Given the description of an element on the screen output the (x, y) to click on. 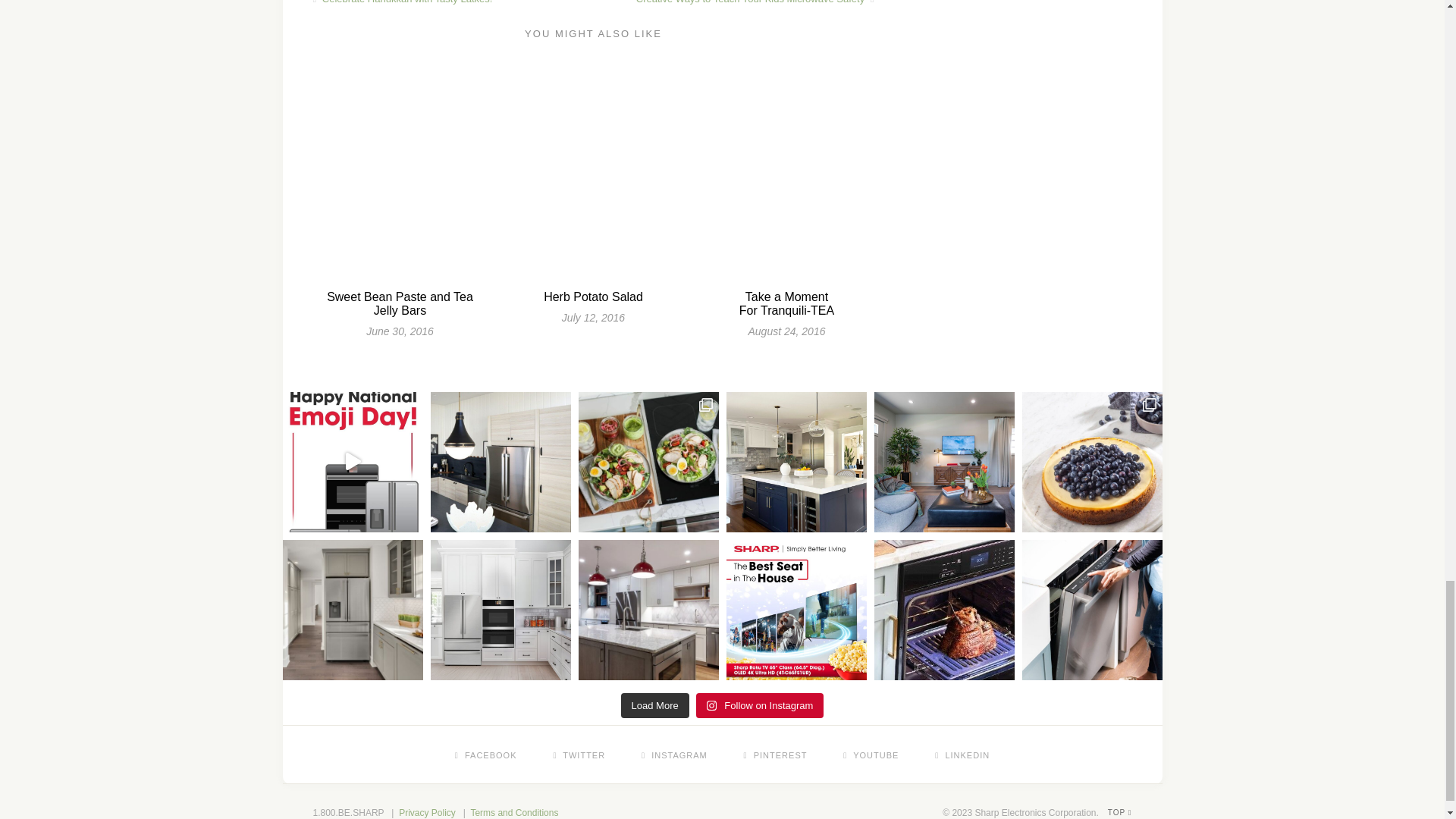
Privacy Policy (426, 812)
Terms and Conditions (513, 812)
